Given the description of an element on the screen output the (x, y) to click on. 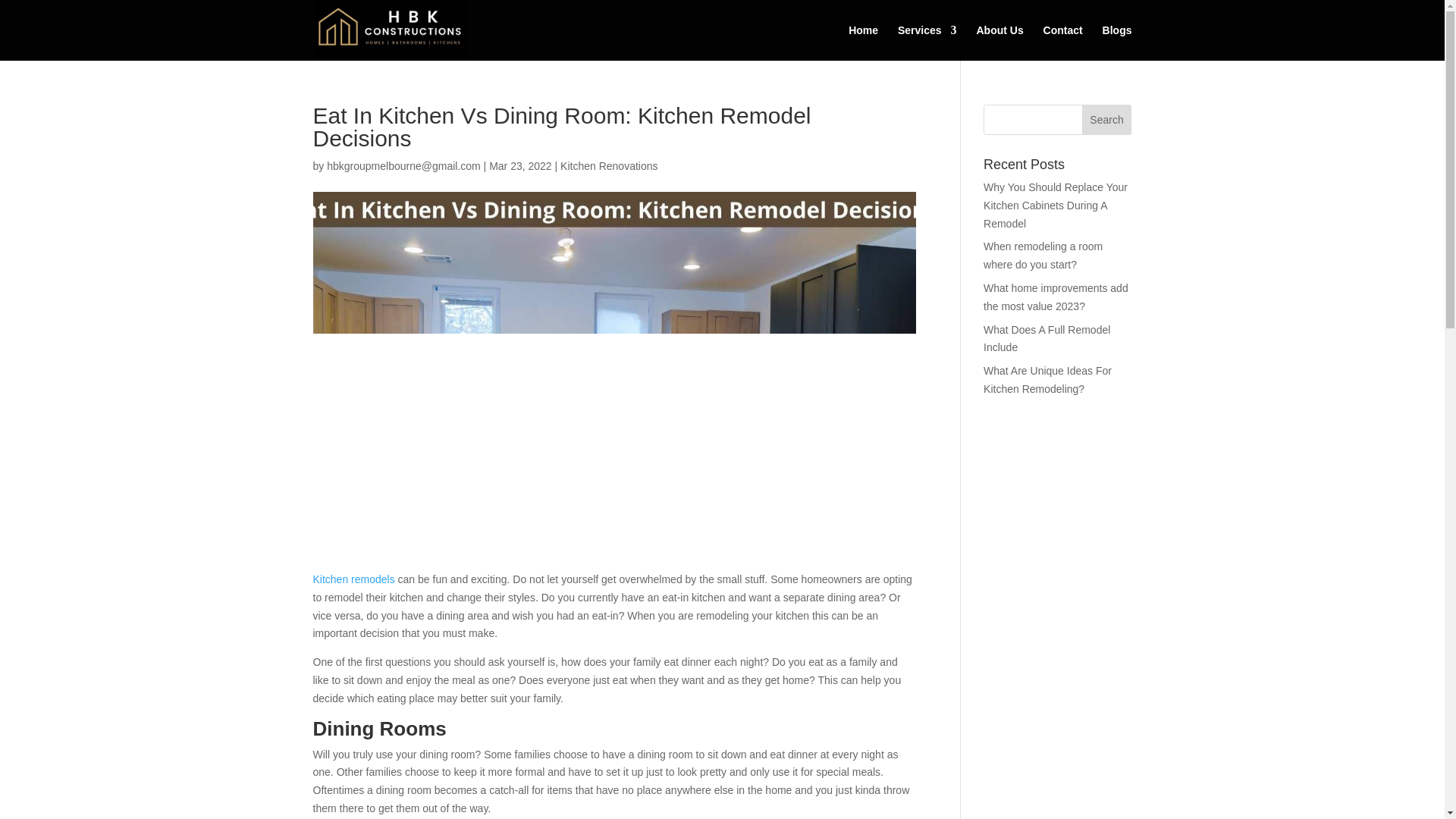
Kitchen remodels (353, 579)
Services (927, 42)
Search (1106, 119)
When remodeling a room where do you start? (1043, 255)
What home improvements add the most value 2023? (1056, 296)
What Are Unique Ideas For Kitchen Remodeling? (1048, 379)
Search (1106, 119)
What Does A Full Remodel Include (1046, 338)
Contact (1063, 42)
About Us (999, 42)
